Given the description of an element on the screen output the (x, y) to click on. 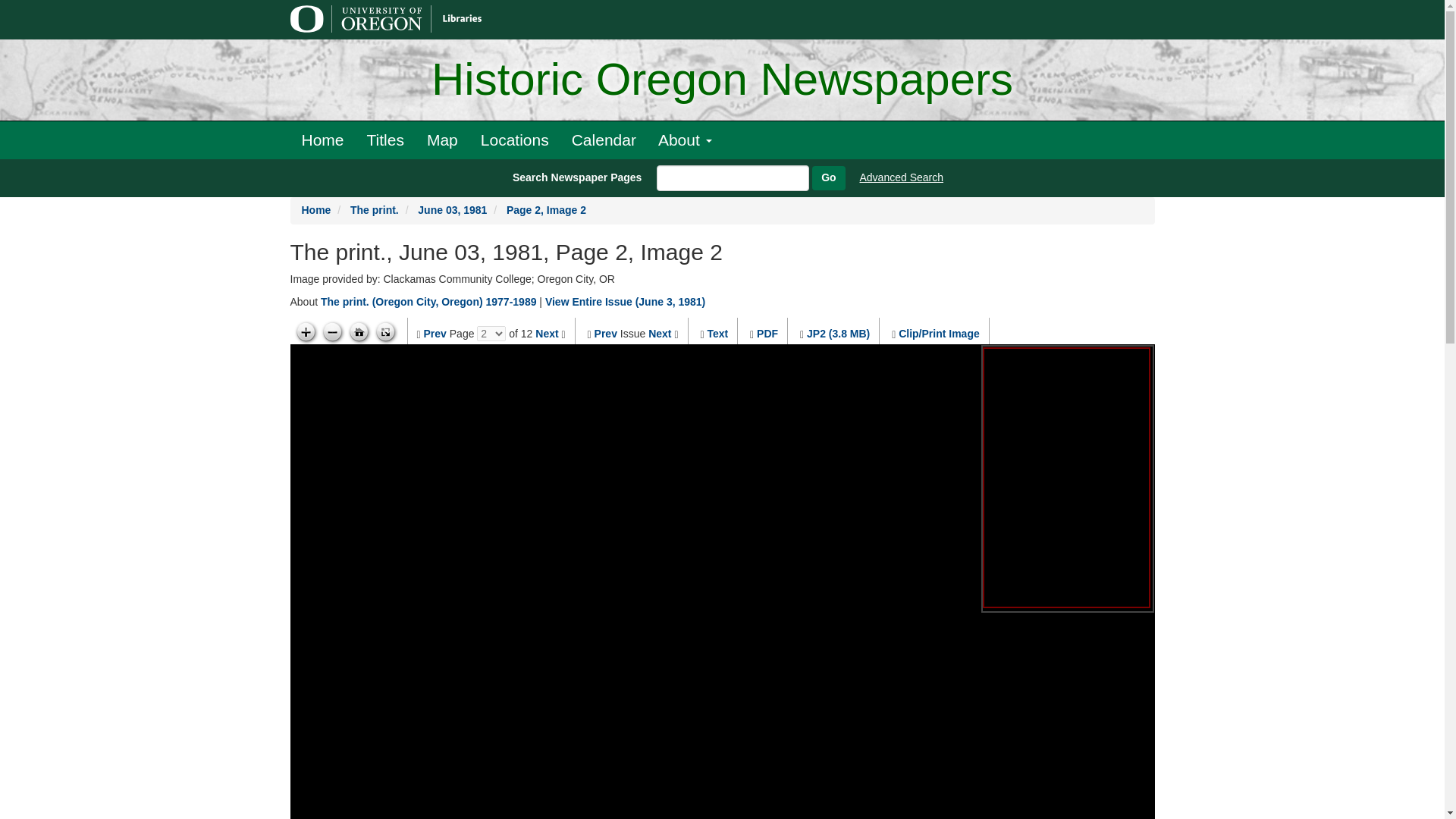
Home (322, 139)
Zoom in (305, 332)
The print. (374, 209)
Map (441, 139)
Calendar (603, 139)
Prev (605, 333)
Go (828, 178)
Advanced Search (901, 177)
Next (546, 333)
Zoom out (332, 332)
June 03, 1981 (451, 209)
PDF (767, 333)
About (684, 140)
Titles (384, 139)
Historic Oregon Newspapers (721, 79)
